Given the description of an element on the screen output the (x, y) to click on. 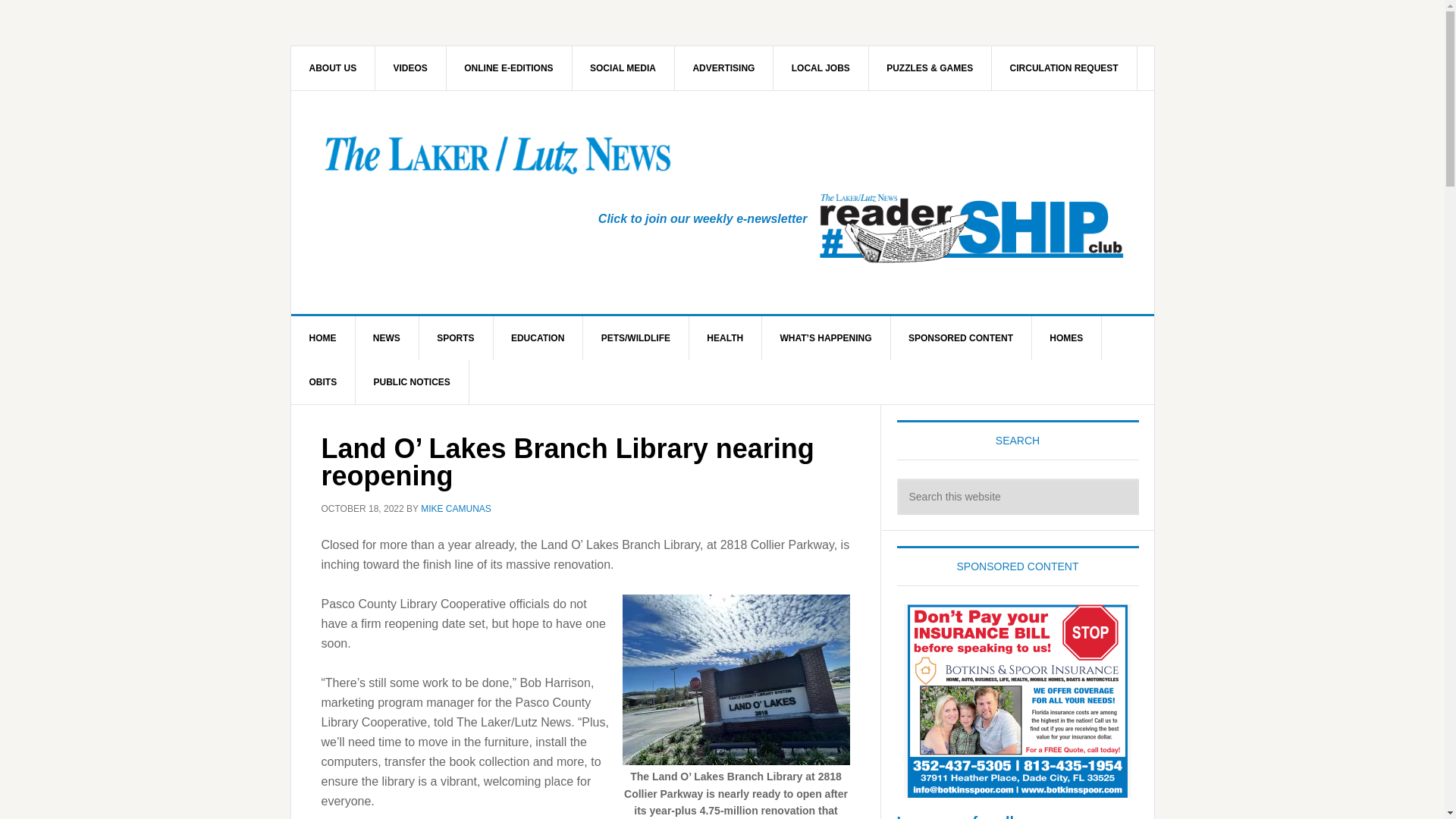
SOCIAL MEDIA (623, 67)
ONLINE E-EDITIONS (508, 67)
CIRCULATION REQUEST (1064, 67)
VIDEOS (410, 67)
NEWS (387, 338)
LOCAL JOBS (821, 67)
Click to join our weekly e-newsletter (703, 218)
ADVERTISING (723, 67)
HOME (323, 338)
